Given the description of an element on the screen output the (x, y) to click on. 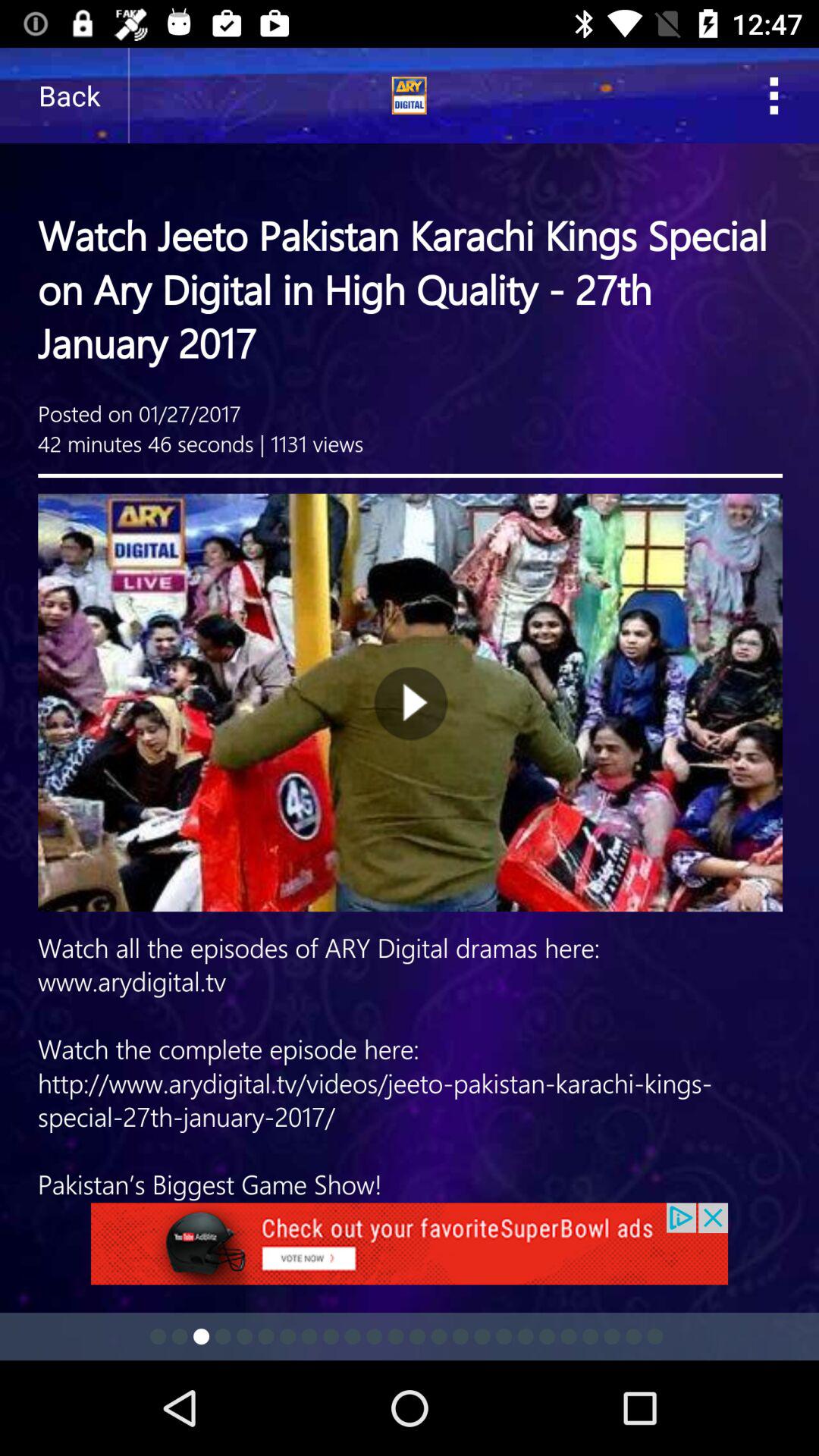
banner advertisement (409, 1252)
